Given the description of an element on the screen output the (x, y) to click on. 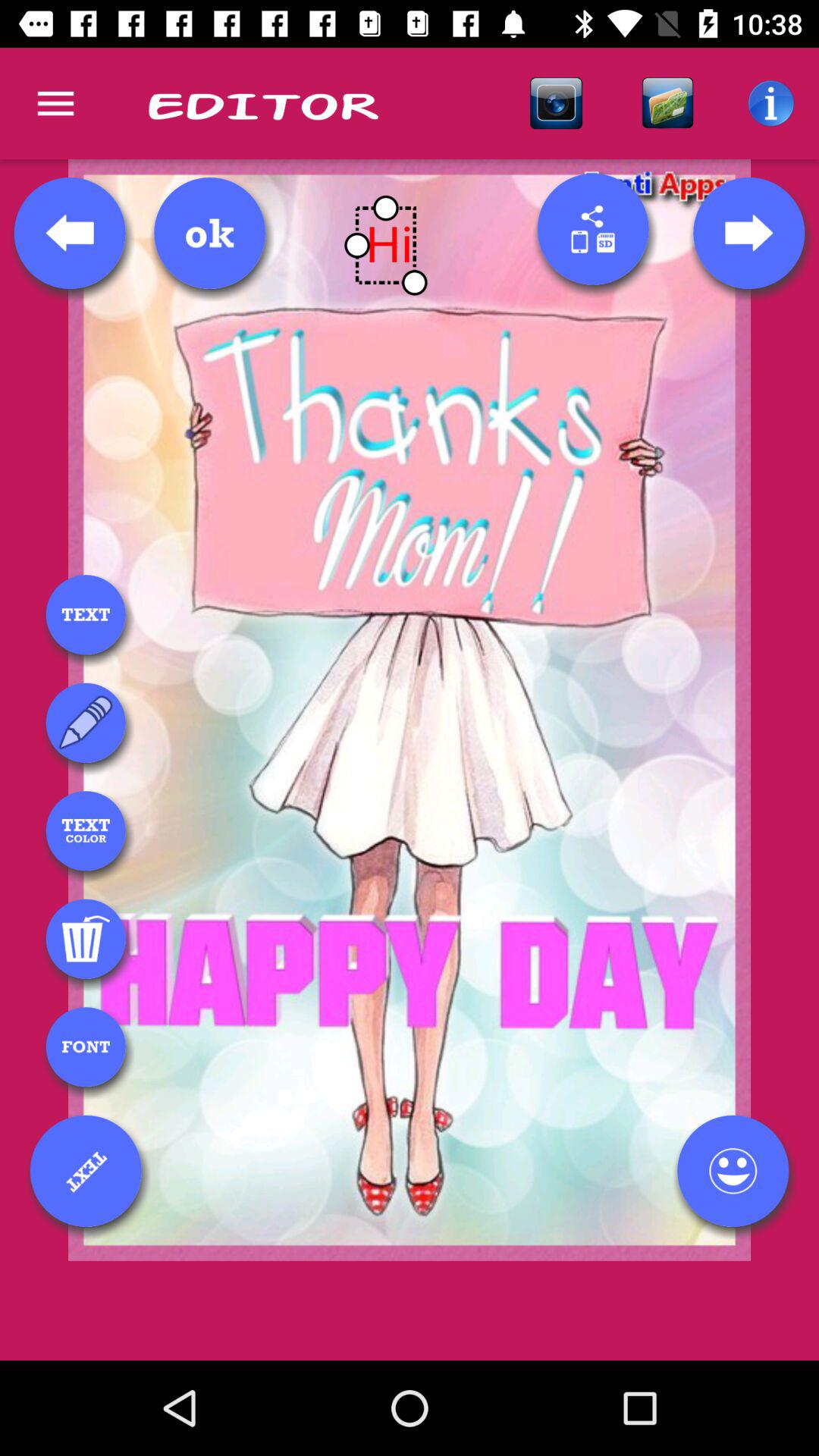
go forward (749, 233)
